Given the description of an element on the screen output the (x, y) to click on. 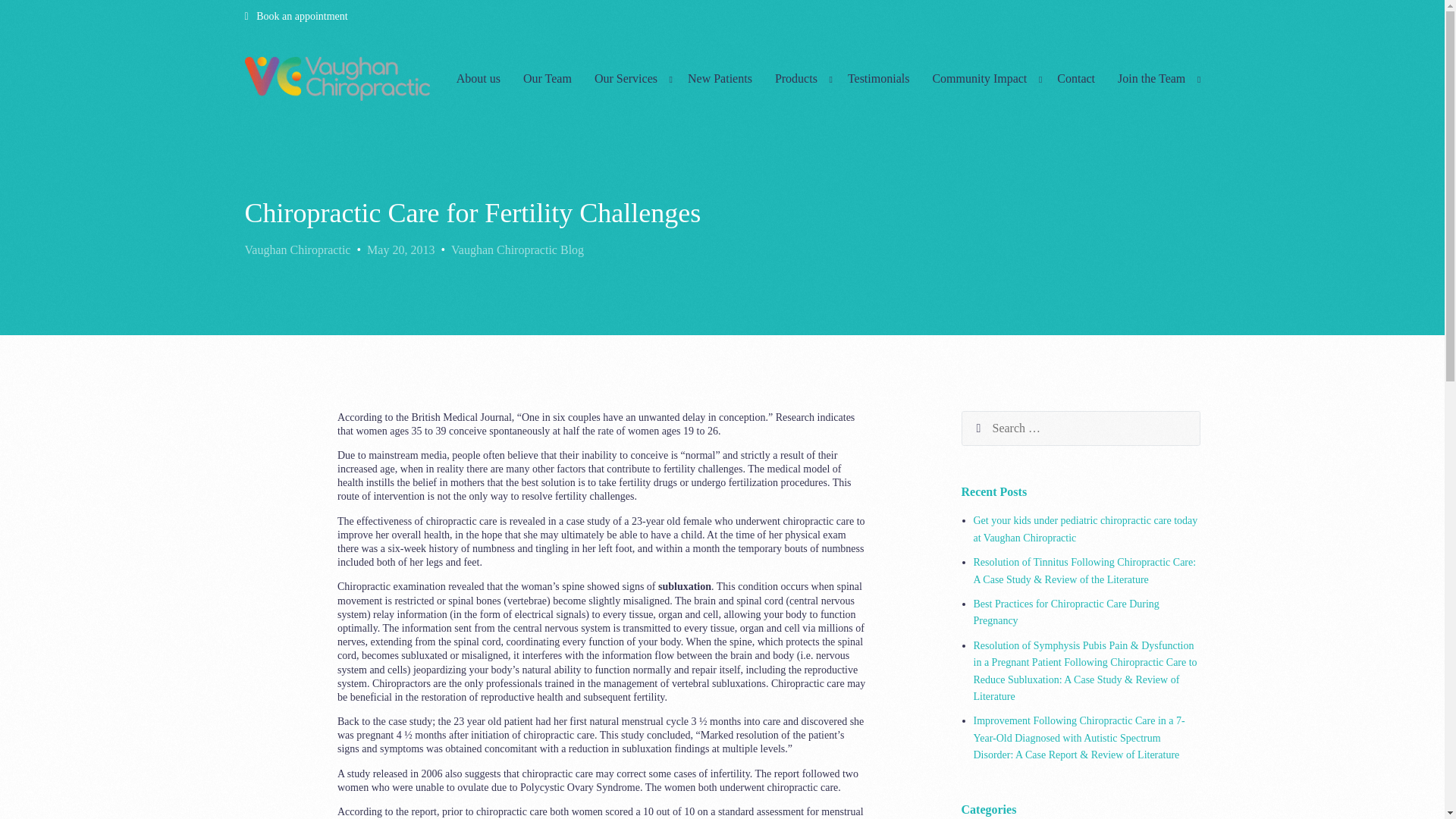
Community Impact (982, 78)
Best Practices for Chiropractic Care During Pregnancy (1066, 612)
Join the Team (1155, 78)
New Patients (719, 78)
Search (987, 428)
Products (798, 78)
Vaughan Chiropractic (297, 266)
Vaughan Chiropractic Blog (517, 264)
  Book an appointment  (300, 16)
Testimonials (878, 78)
About us (478, 78)
Our Team (547, 78)
Our Services (630, 78)
Contact (1075, 78)
